Given the description of an element on the screen output the (x, y) to click on. 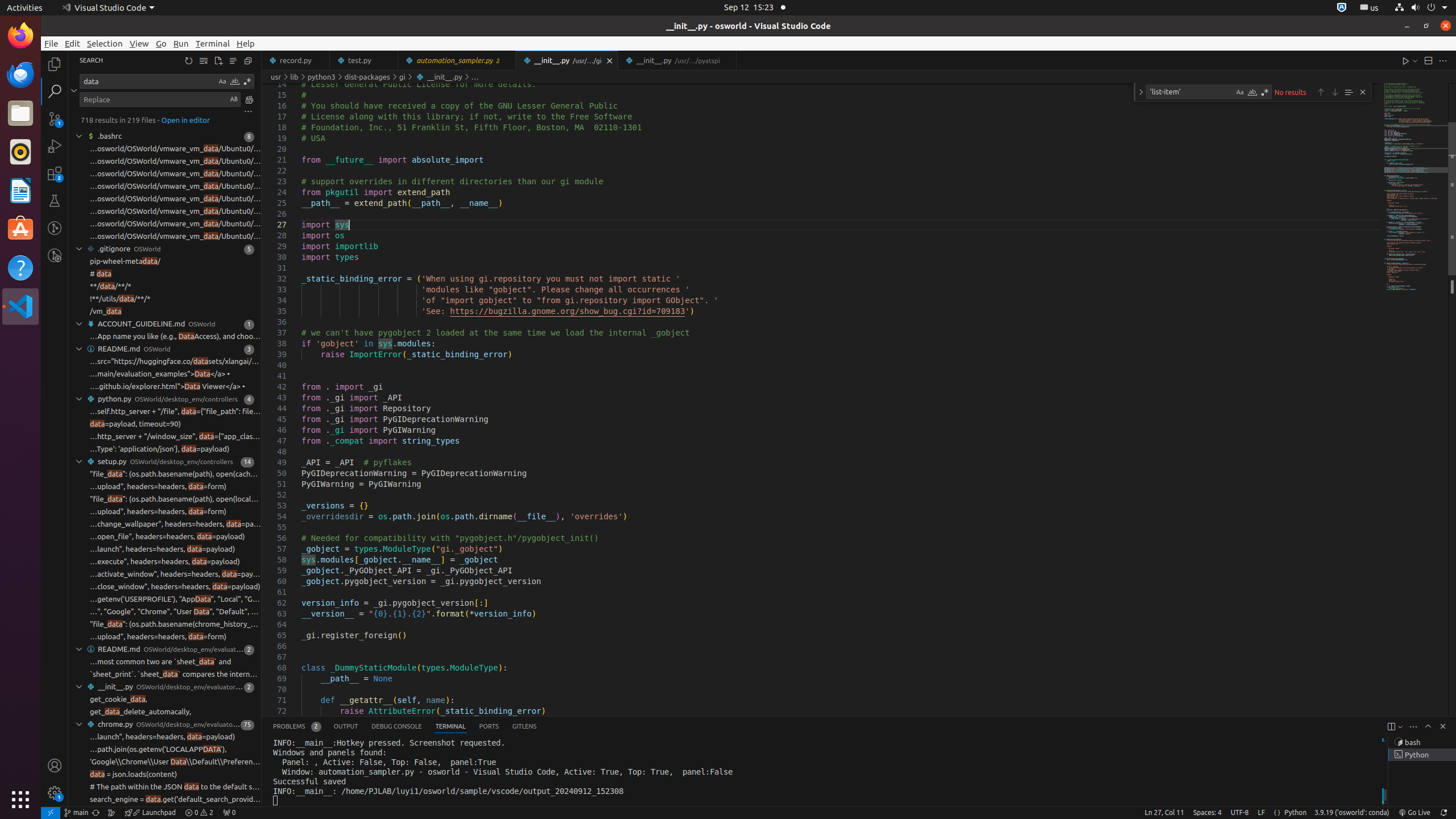
Clear Search Results Element type: push-button (203, 60)
' search_engine = data.get('default_search_provider_data', {}).get('template_url_data', {}).get('short_name',' at column 59 found data Element type: tree-item (164, 811)
Ports Element type: page-tab (488, 726)
'# vmrun -T ws start /home/PJLAB/luyi1/osworld/OSWorld/vmware_vm_data/Ubuntu0/Ubuntu0.vmx' at column 65 found data Element type: tree-item (164, 223)
